Given the description of an element on the screen output the (x, y) to click on. 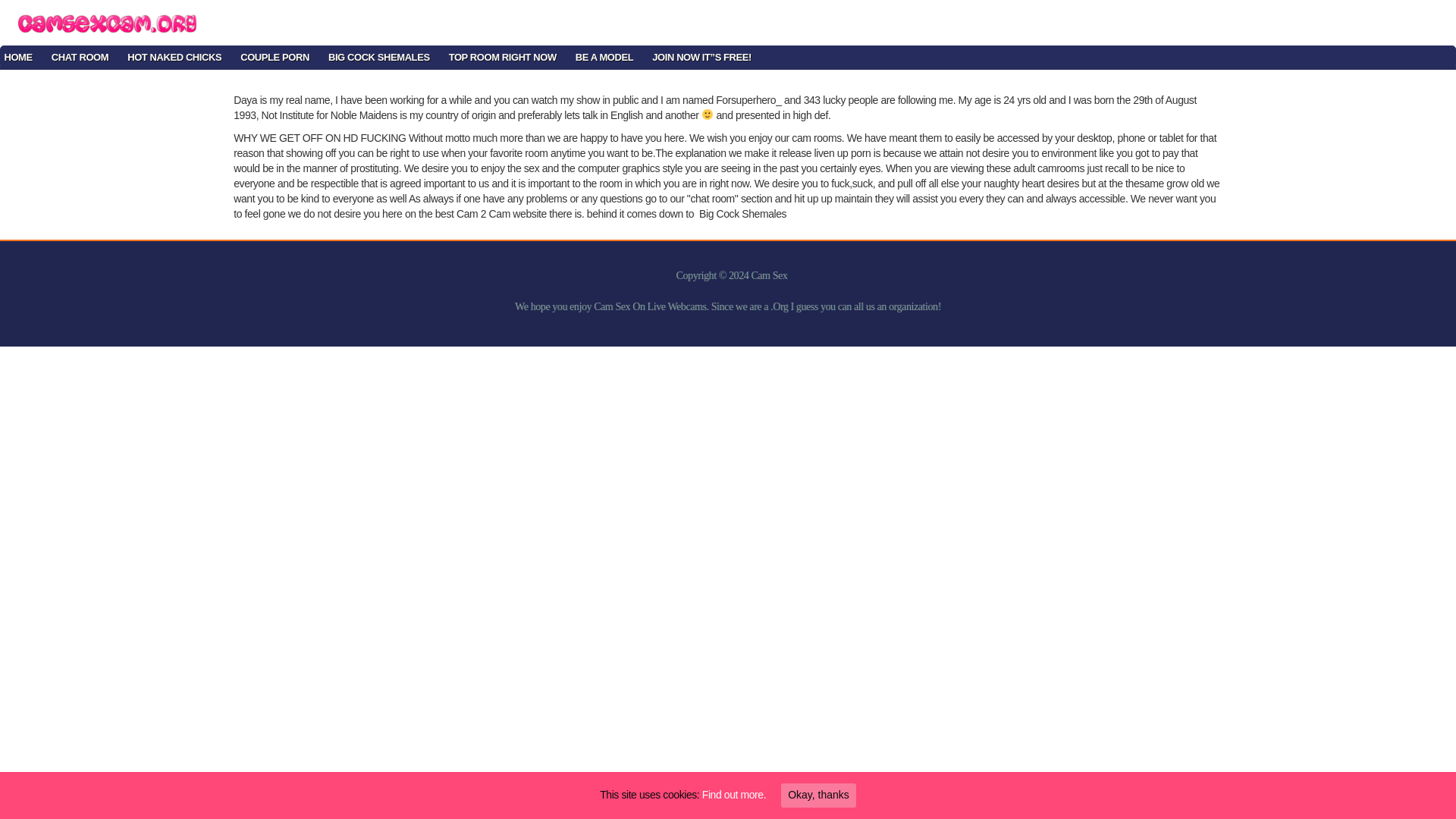
BIG COCK SHEMALES (379, 55)
COUPLE PORN (274, 55)
BE A MODEL (603, 55)
TOP ROOM RIGHT NOW (502, 55)
CHAT ROOM (79, 55)
HOT NAKED CHICKS (173, 55)
HOME (19, 55)
